Given the description of an element on the screen output the (x, y) to click on. 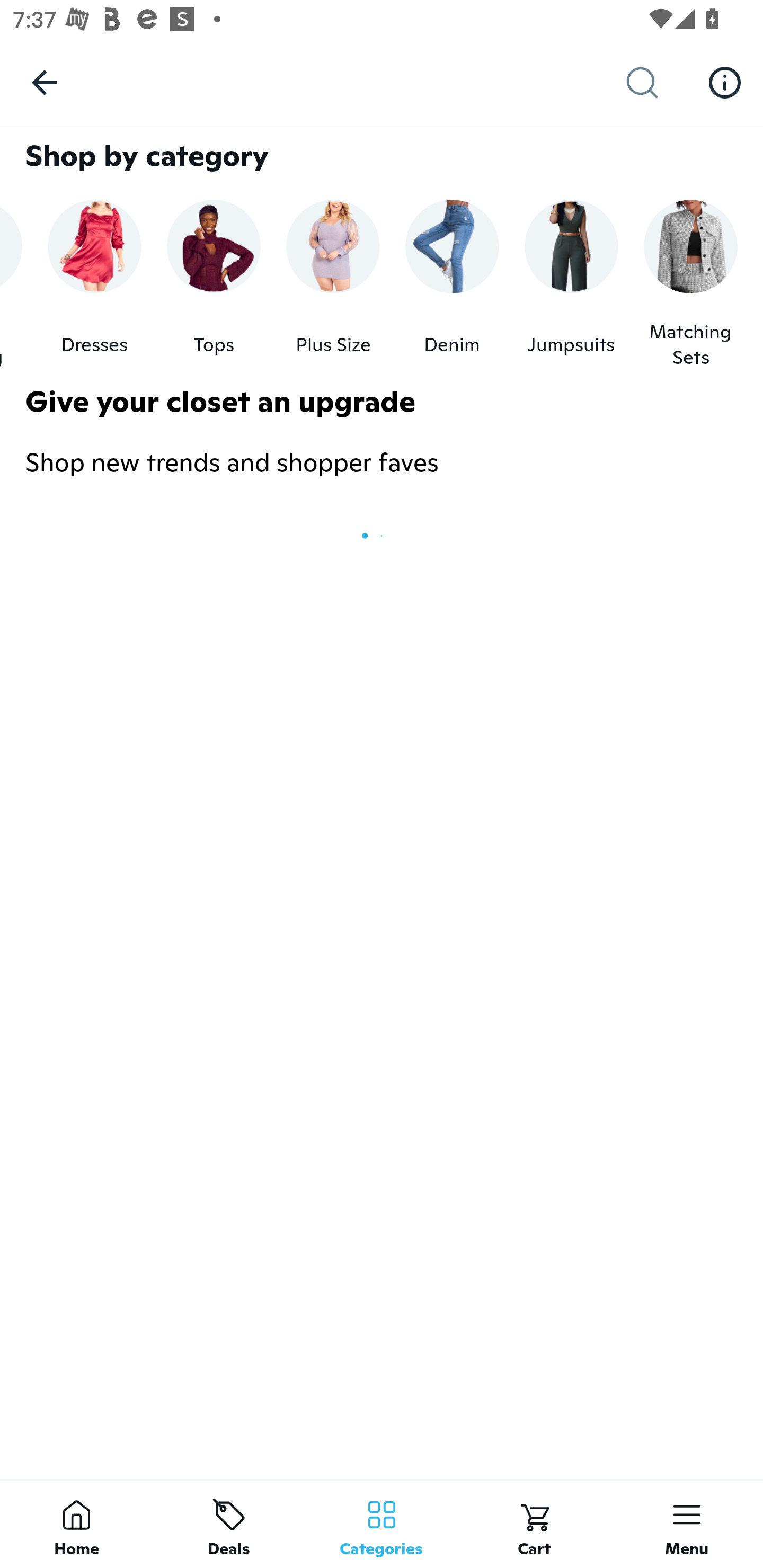
Navigate up (44, 82)
Learn More (724, 81)
Search (656, 82)
Dresses (94, 284)
Tops (213, 284)
Plus Size (332, 284)
Denim (452, 284)
Jumpsuits (571, 284)
Matching Sets (690, 284)
Home (76, 1523)
Deals (228, 1523)
Categories (381, 1523)
Cart (533, 1523)
Menu (686, 1523)
